Given the description of an element on the screen output the (x, y) to click on. 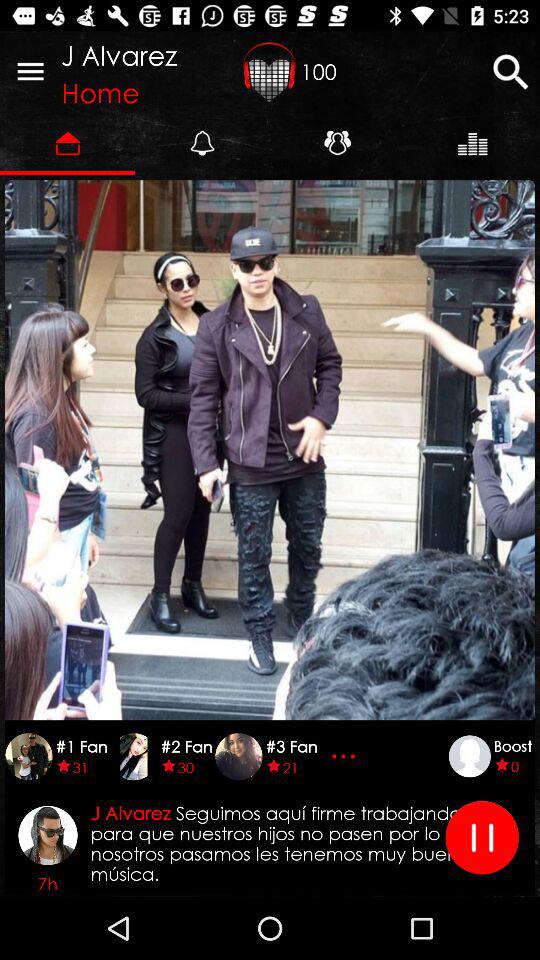
select item to the left of j alvarez icon (30, 70)
